Given the description of an element on the screen output the (x, y) to click on. 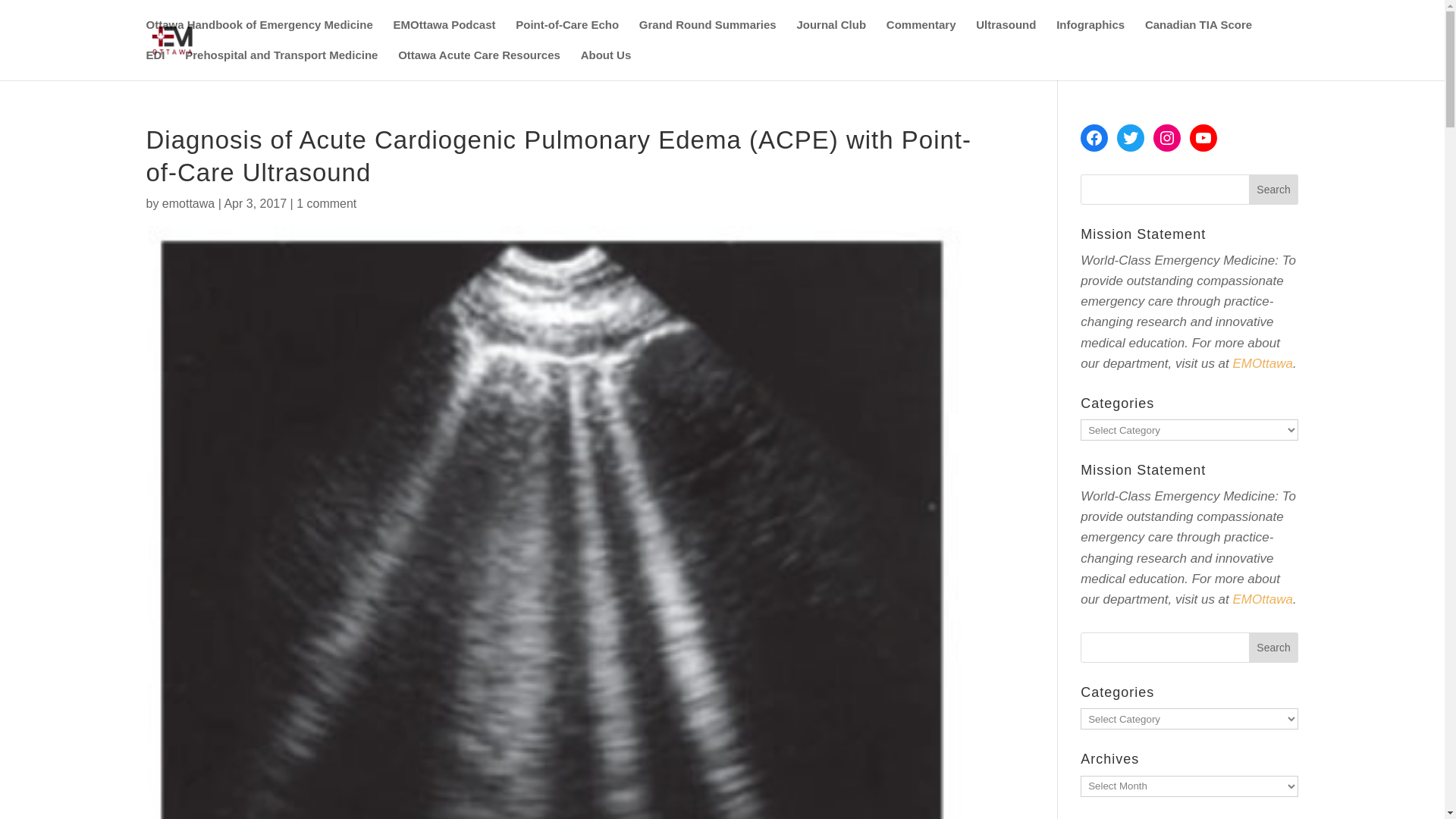
Ottawa Acute Care Resources (478, 64)
Search (1273, 189)
Point-of-Care Echo (566, 34)
Prehospital and Transport Medicine (280, 64)
Grand Round Summaries (707, 34)
EMOttawa Podcast (444, 34)
Search (1273, 647)
emottawa (187, 203)
1 comment (326, 203)
Posts by emottawa (187, 203)
